Given the description of an element on the screen output the (x, y) to click on. 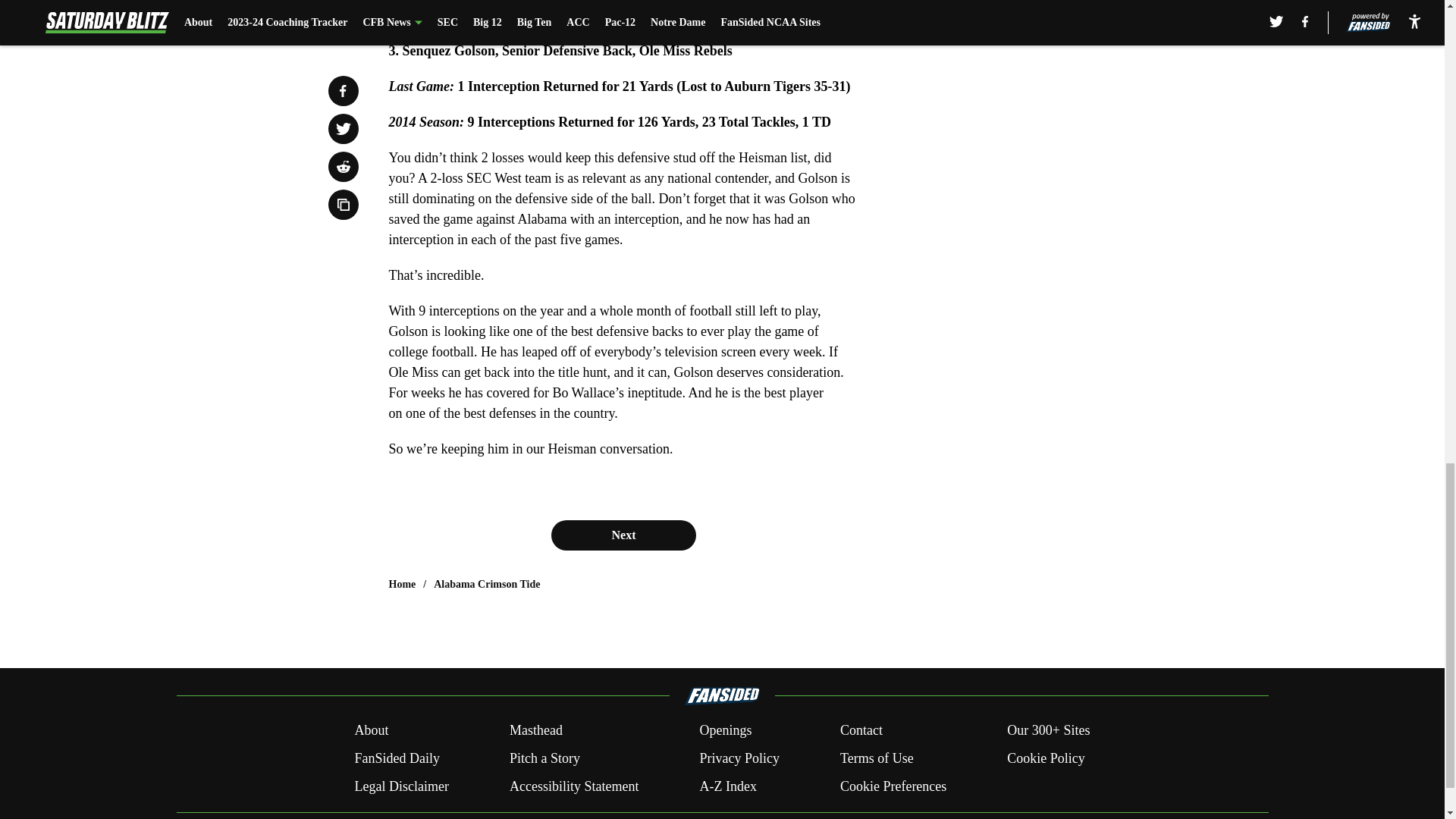
About (370, 730)
Alabama Crimson Tide (486, 584)
Next (622, 535)
Home (401, 584)
Contact (861, 730)
Openings (724, 730)
Masthead (535, 730)
